Given the description of an element on the screen output the (x, y) to click on. 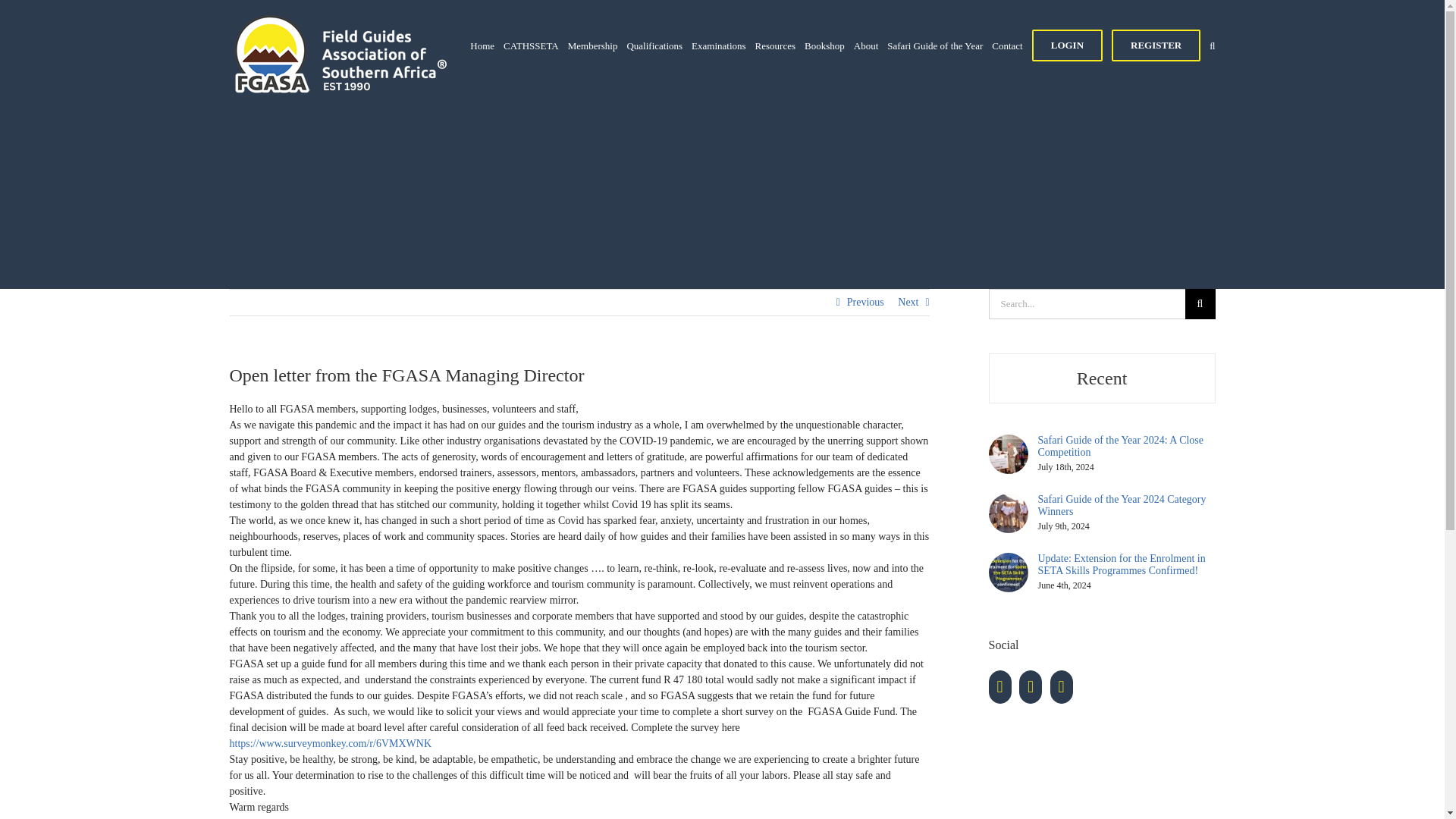
REGISTER (1155, 45)
Safari Guide of the Year (934, 45)
